Given the description of an element on the screen output the (x, y) to click on. 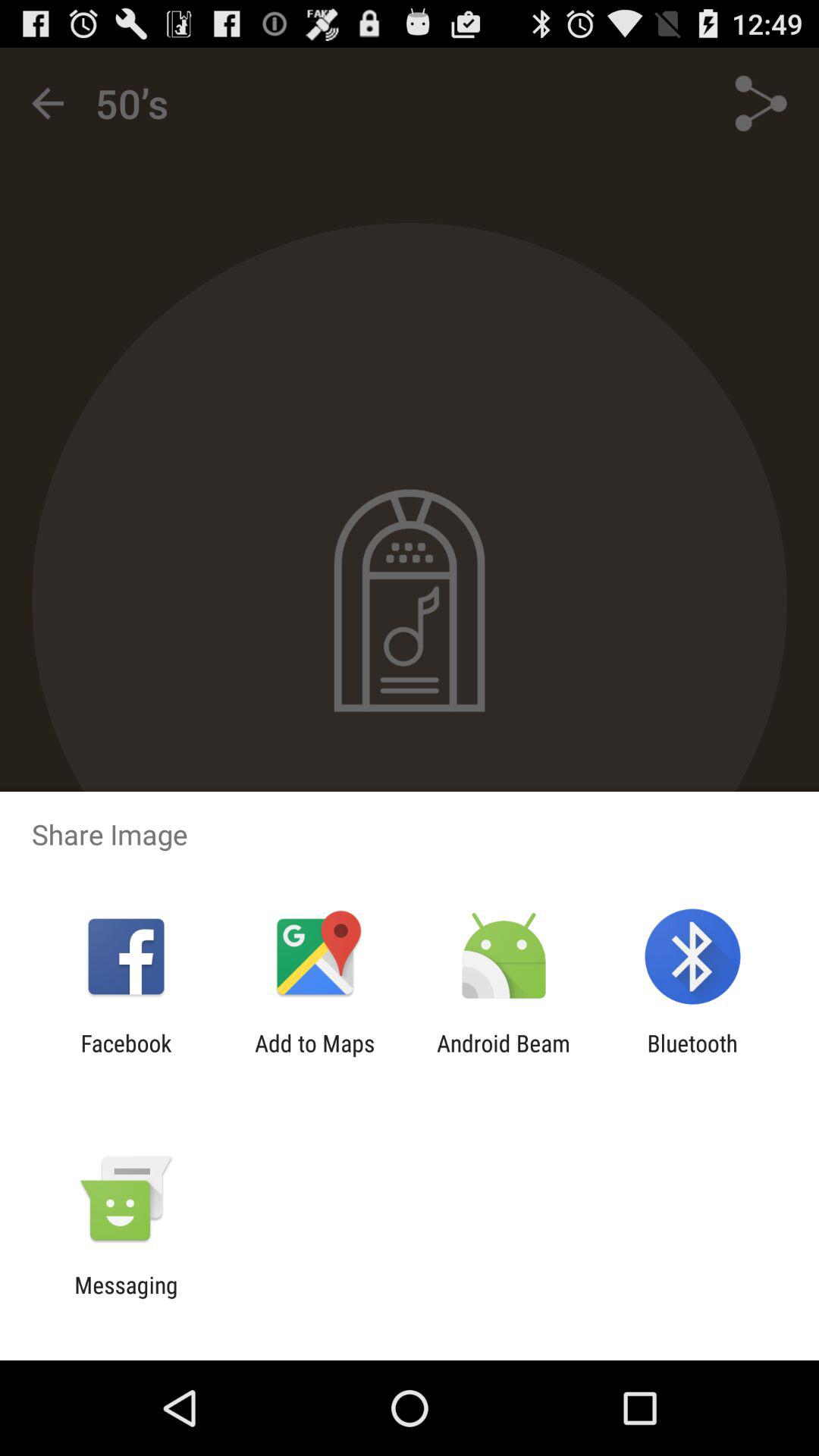
select the android beam icon (503, 1056)
